Given the description of an element on the screen output the (x, y) to click on. 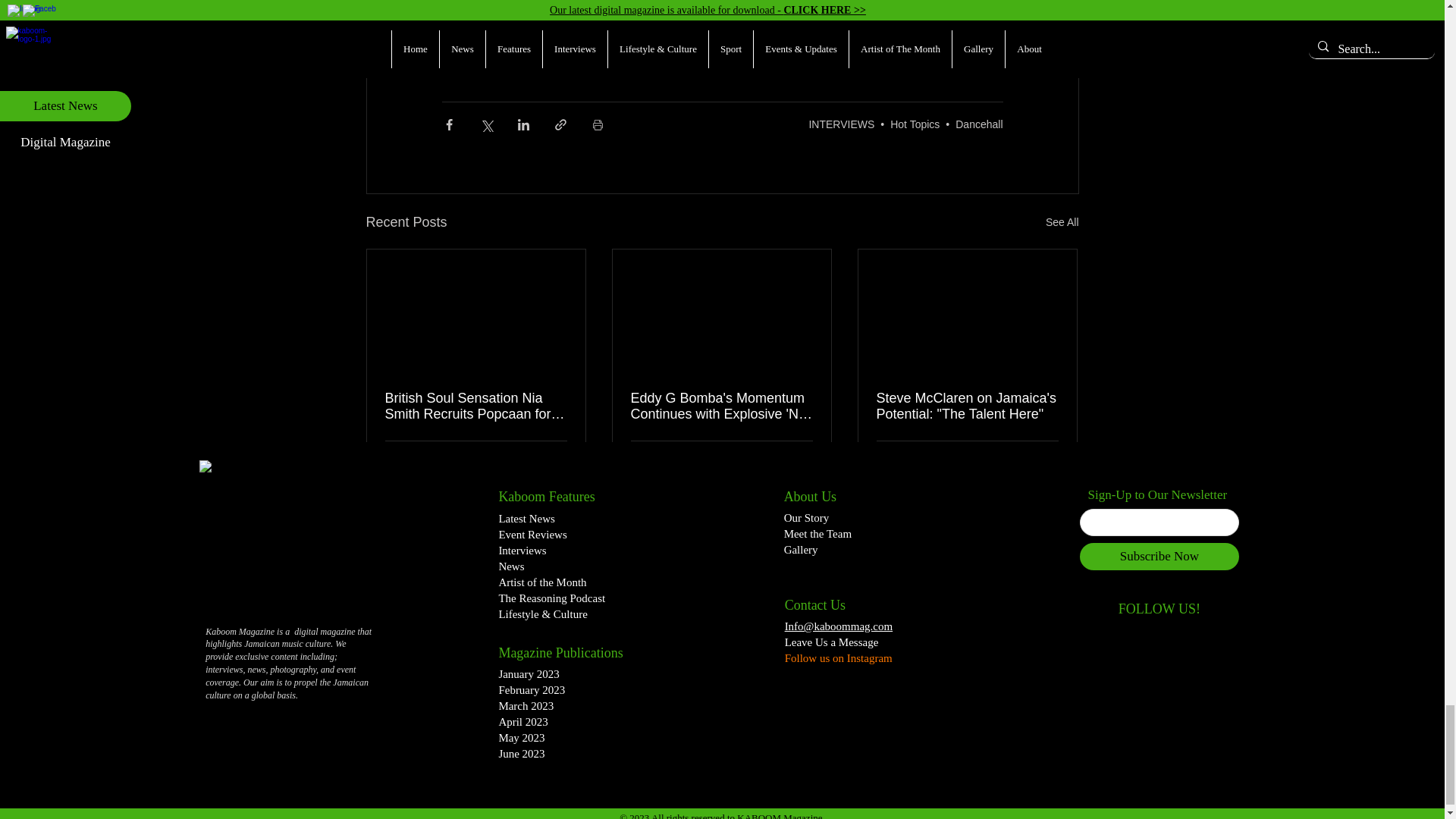
Dancehall (979, 123)
0 (643, 459)
Hot Topics (914, 123)
0 (397, 459)
See All (1061, 222)
INTERVIEWS (841, 123)
